Given the description of an element on the screen output the (x, y) to click on. 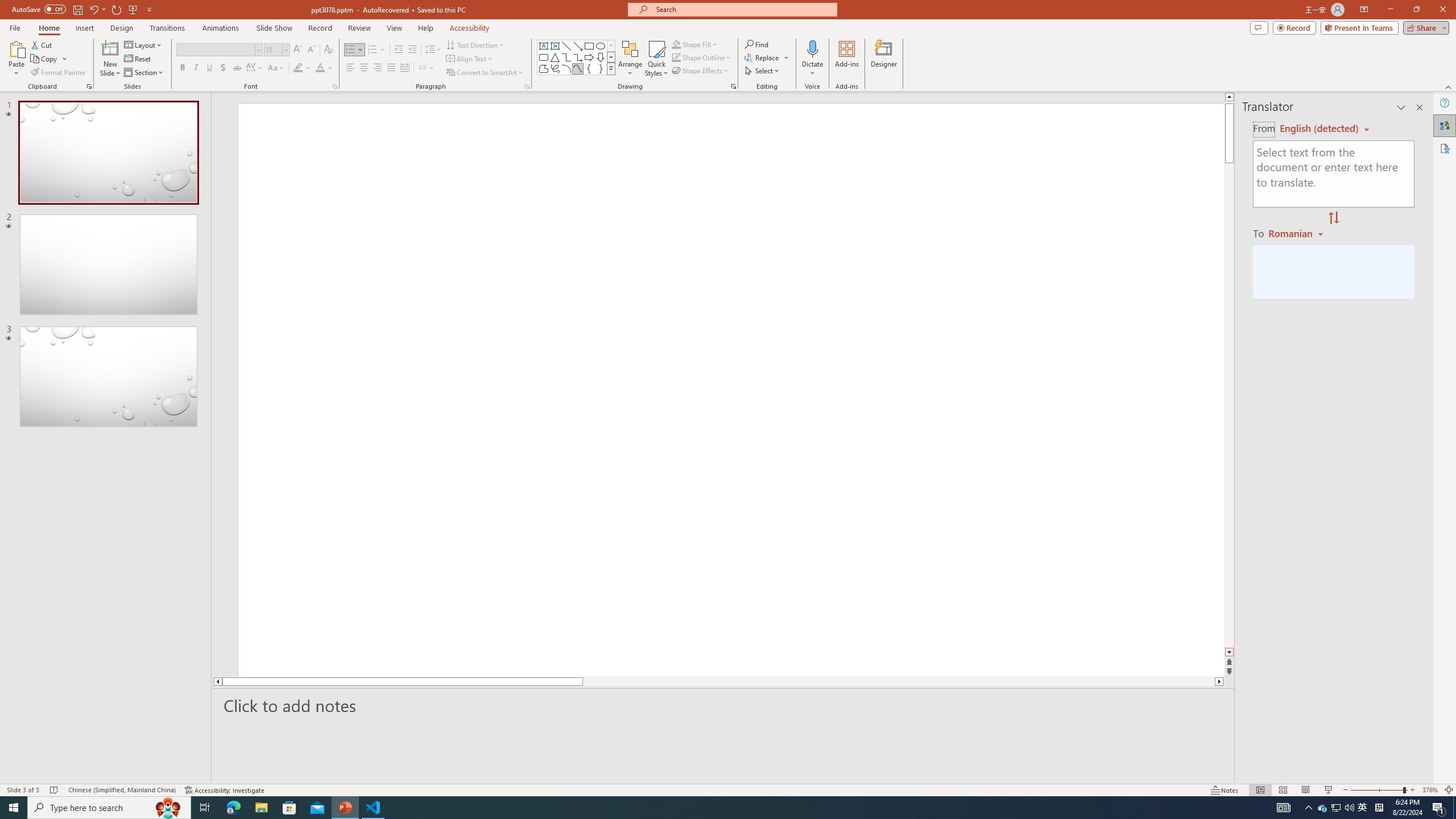
Right Brace (600, 68)
Cut (42, 44)
Bullets (354, 49)
Copy (49, 58)
Shape Outline (701, 56)
